Given the description of an element on the screen output the (x, y) to click on. 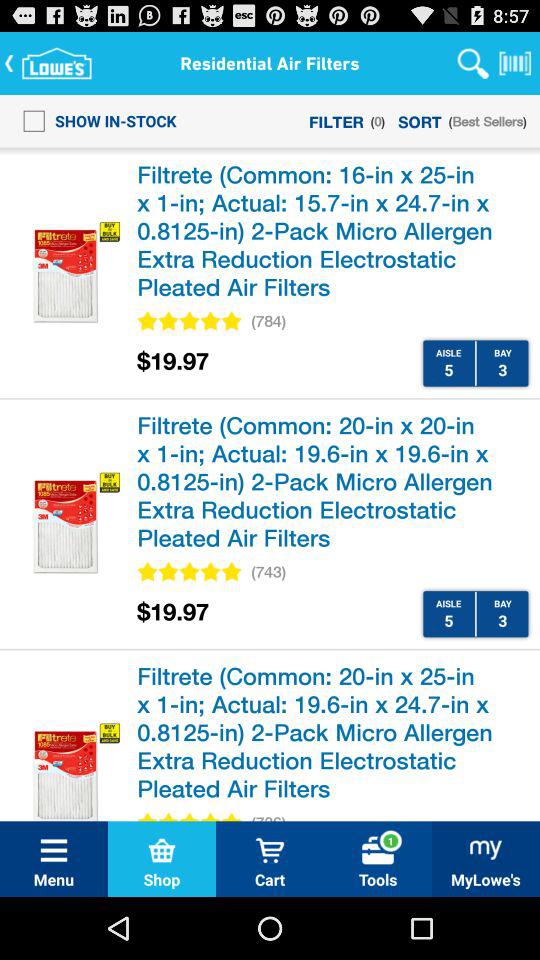
launch the item next to the (0) icon (336, 120)
